Given the description of an element on the screen output the (x, y) to click on. 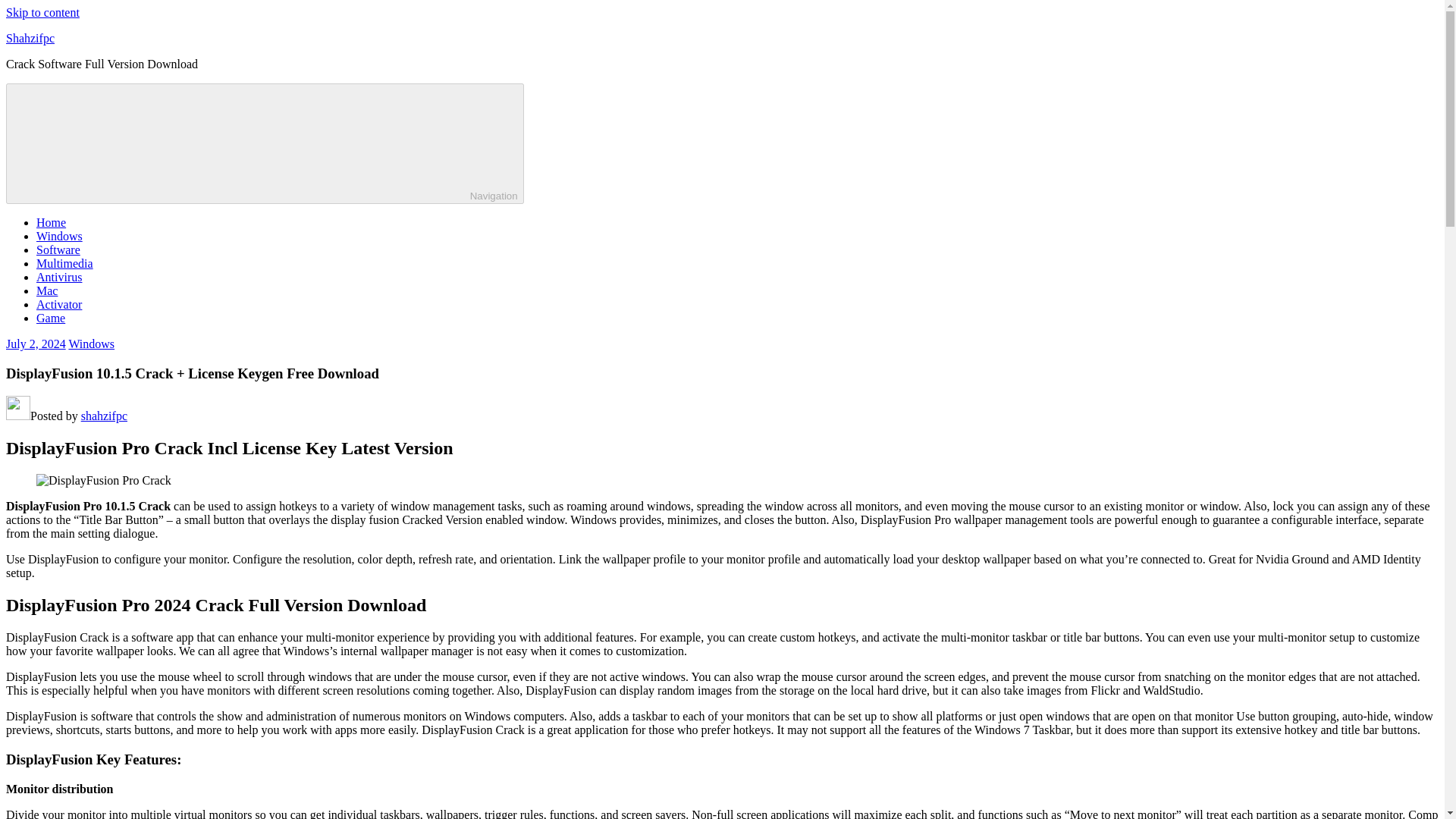
Multimedia (64, 263)
View all posts by shahzifpc (104, 415)
July 2, 2024 (35, 343)
shahzifpc (104, 415)
Windows (59, 236)
Software (58, 249)
Home (50, 222)
Antivirus (58, 277)
12:44 pm (35, 343)
Game (50, 318)
Shahzifpc (30, 38)
Skip to content (42, 11)
Windows (91, 343)
Activator (58, 304)
Navigation (264, 143)
